Given the description of an element on the screen output the (x, y) to click on. 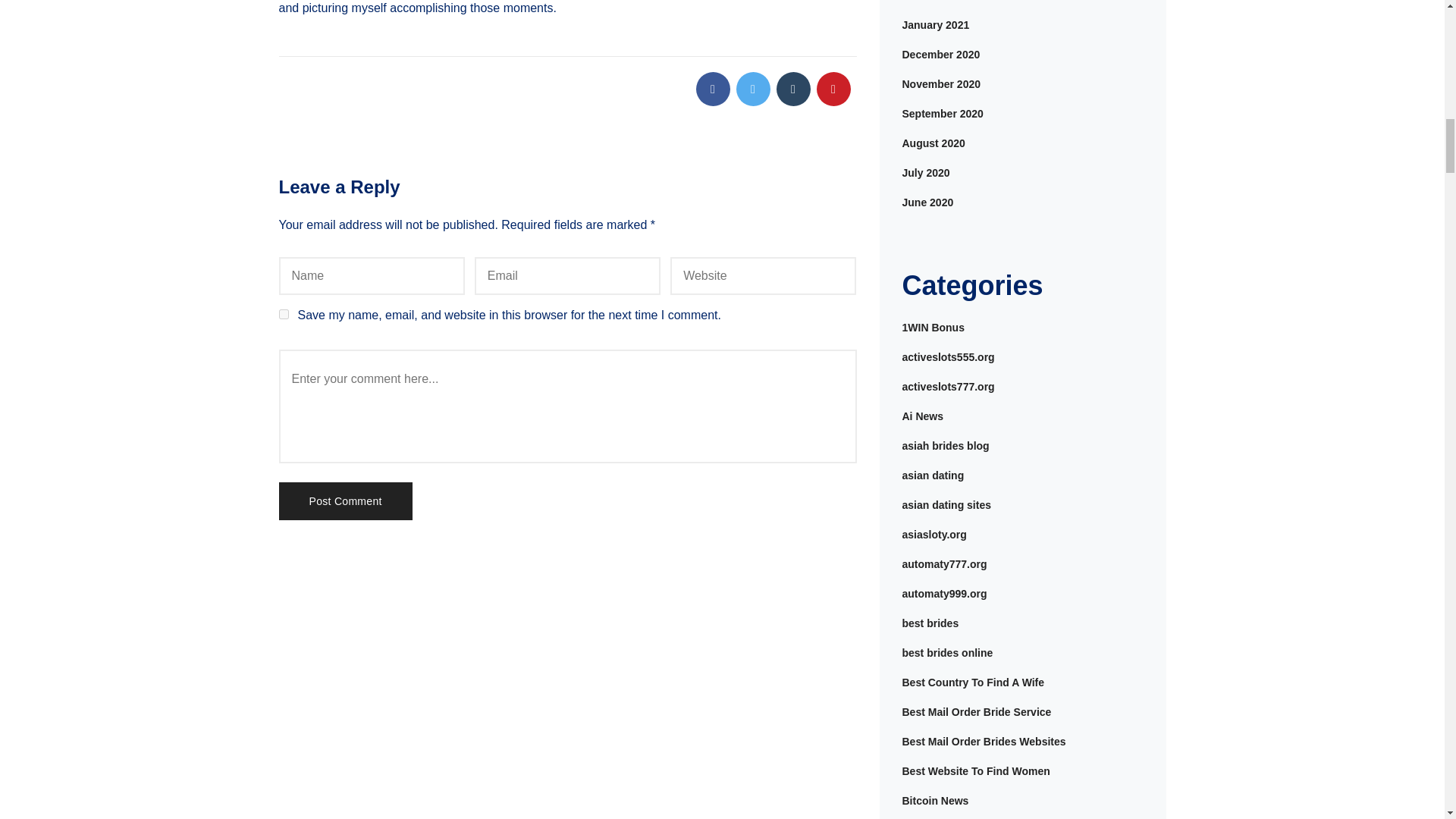
Share on Twitter (752, 89)
yes (283, 314)
Share on Pinterest (832, 89)
Post Comment (345, 501)
Share on Facebook (712, 89)
Share on Tumblr (793, 89)
